Given the description of an element on the screen output the (x, y) to click on. 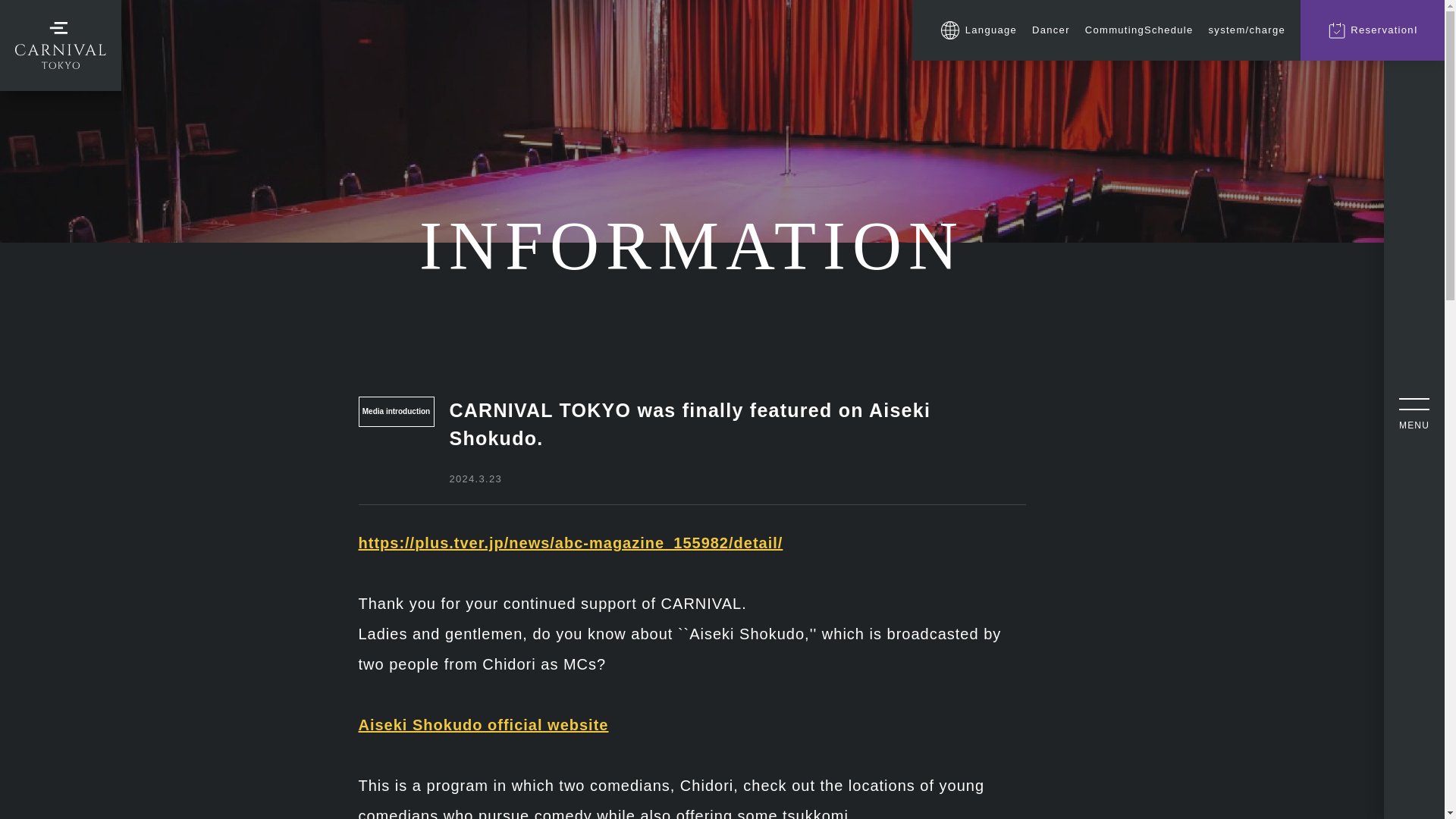
CommutingSchedule (1138, 30)
Aiseki Shokudo official website (483, 724)
